Given the description of an element on the screen output the (x, y) to click on. 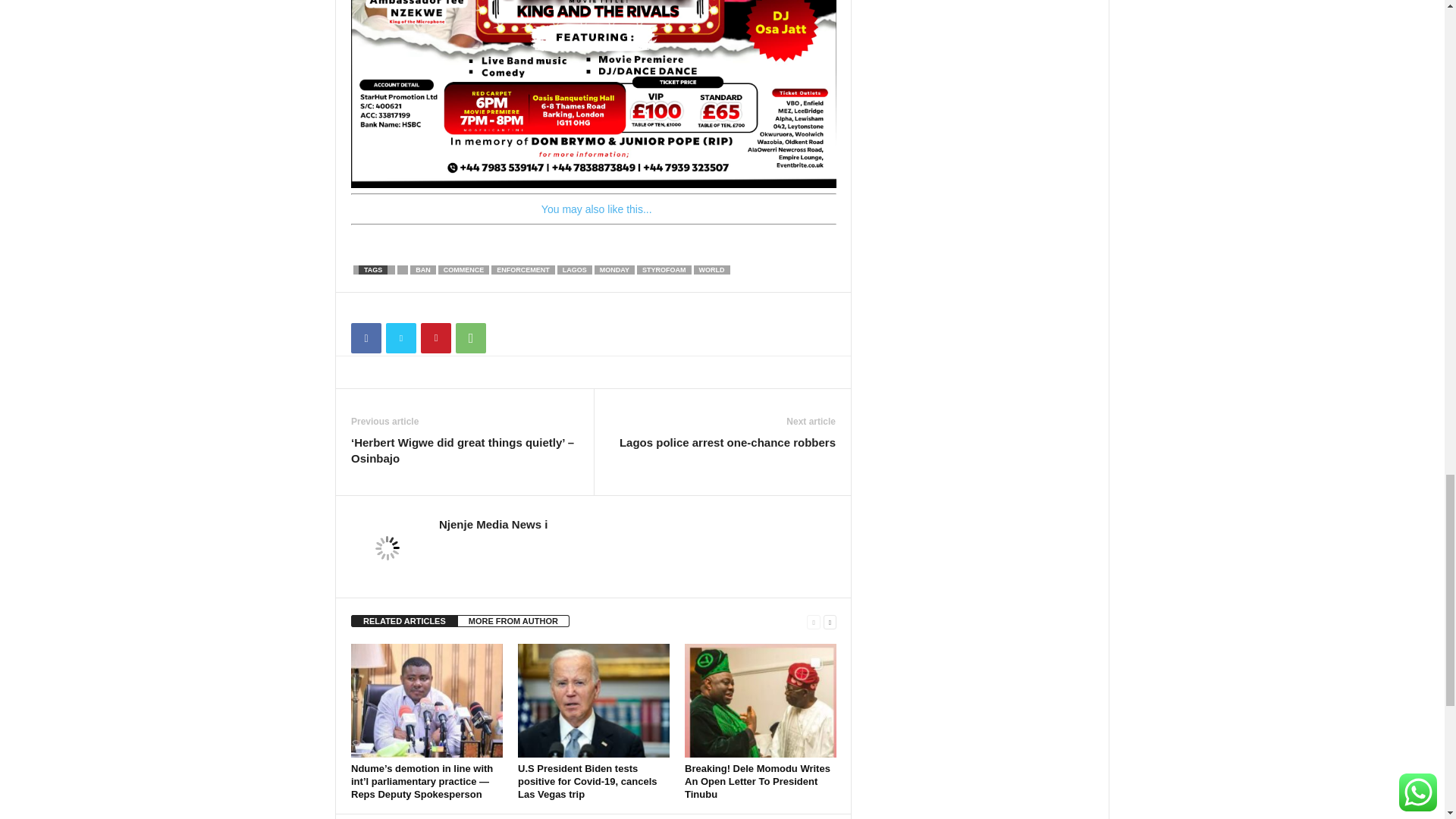
Twitter (400, 337)
Pinterest (435, 337)
WhatsApp (470, 337)
Facebook (365, 337)
